Given the description of an element on the screen output the (x, y) to click on. 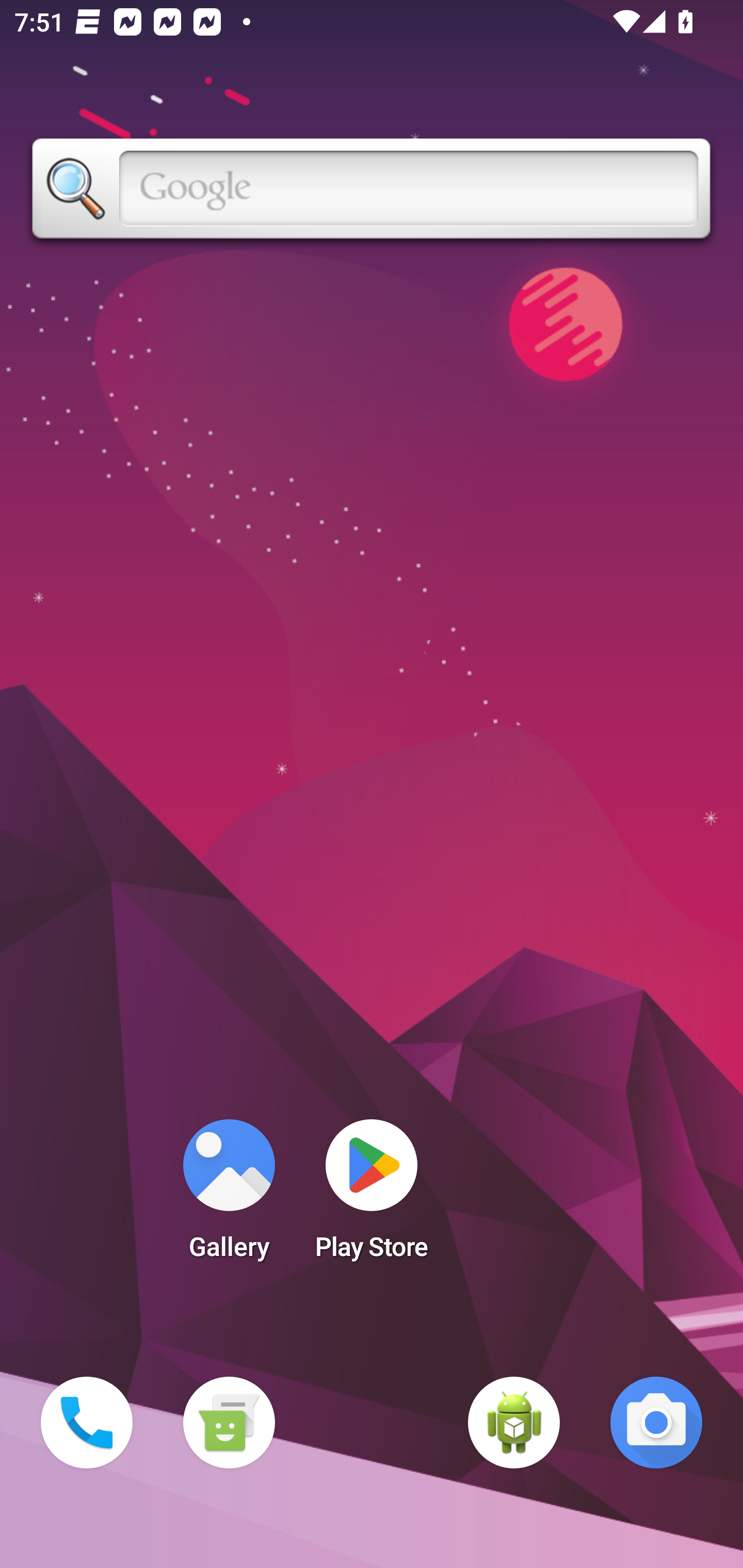
Gallery (228, 1195)
Play Store (371, 1195)
Phone (86, 1422)
Messaging (228, 1422)
WebView Browser Tester (513, 1422)
Camera (656, 1422)
